Given the description of an element on the screen output the (x, y) to click on. 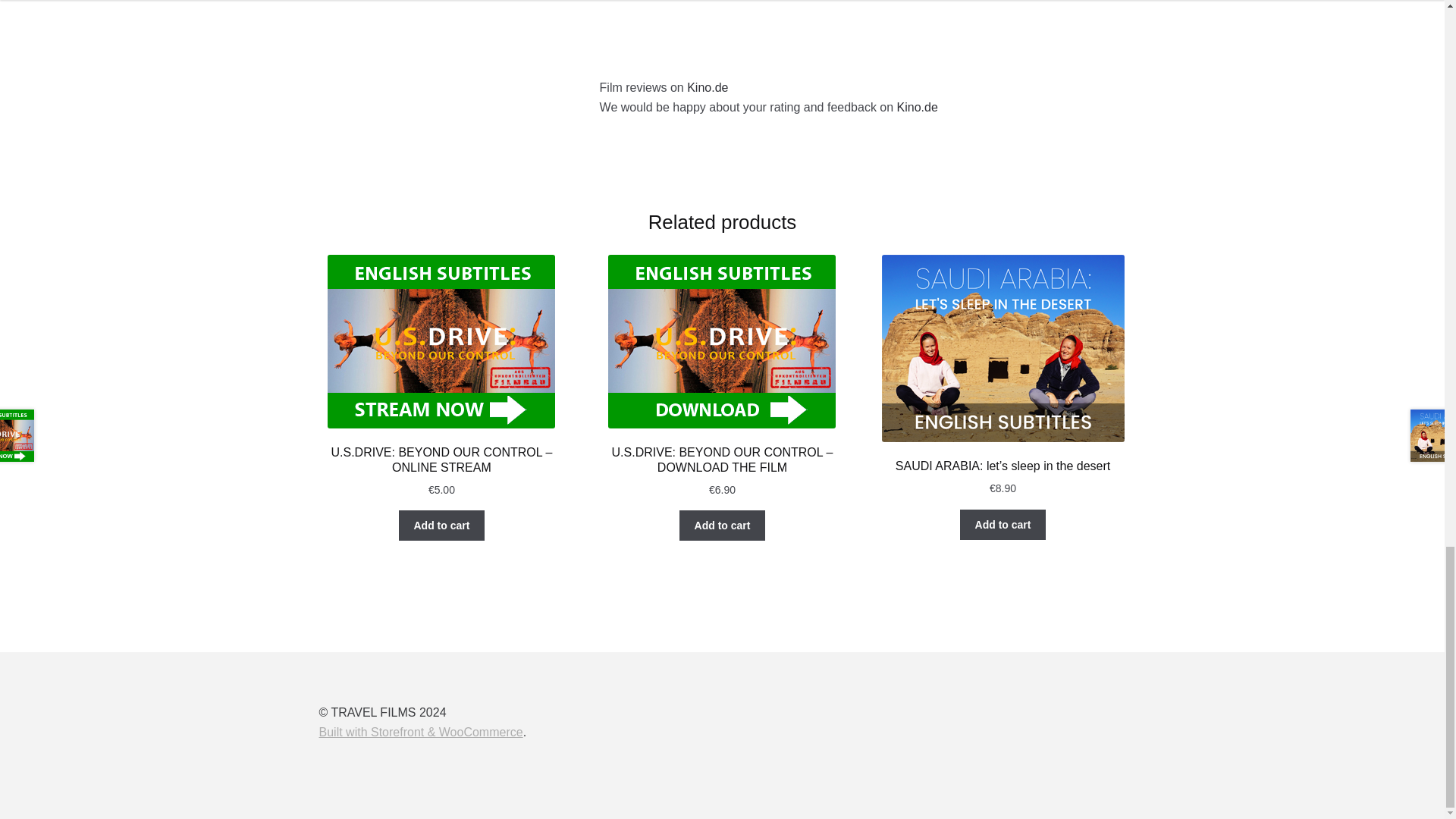
Add to cart (1002, 524)
Anna Asia and me 250 Days on the road trailer ENG (862, 27)
Add to cart (722, 525)
Kino.de (916, 106)
Add to cart (441, 525)
Kino.de (707, 87)
WooCommerce - The Best eCommerce Platform for WordPress (420, 731)
